Given the description of an element on the screen output the (x, y) to click on. 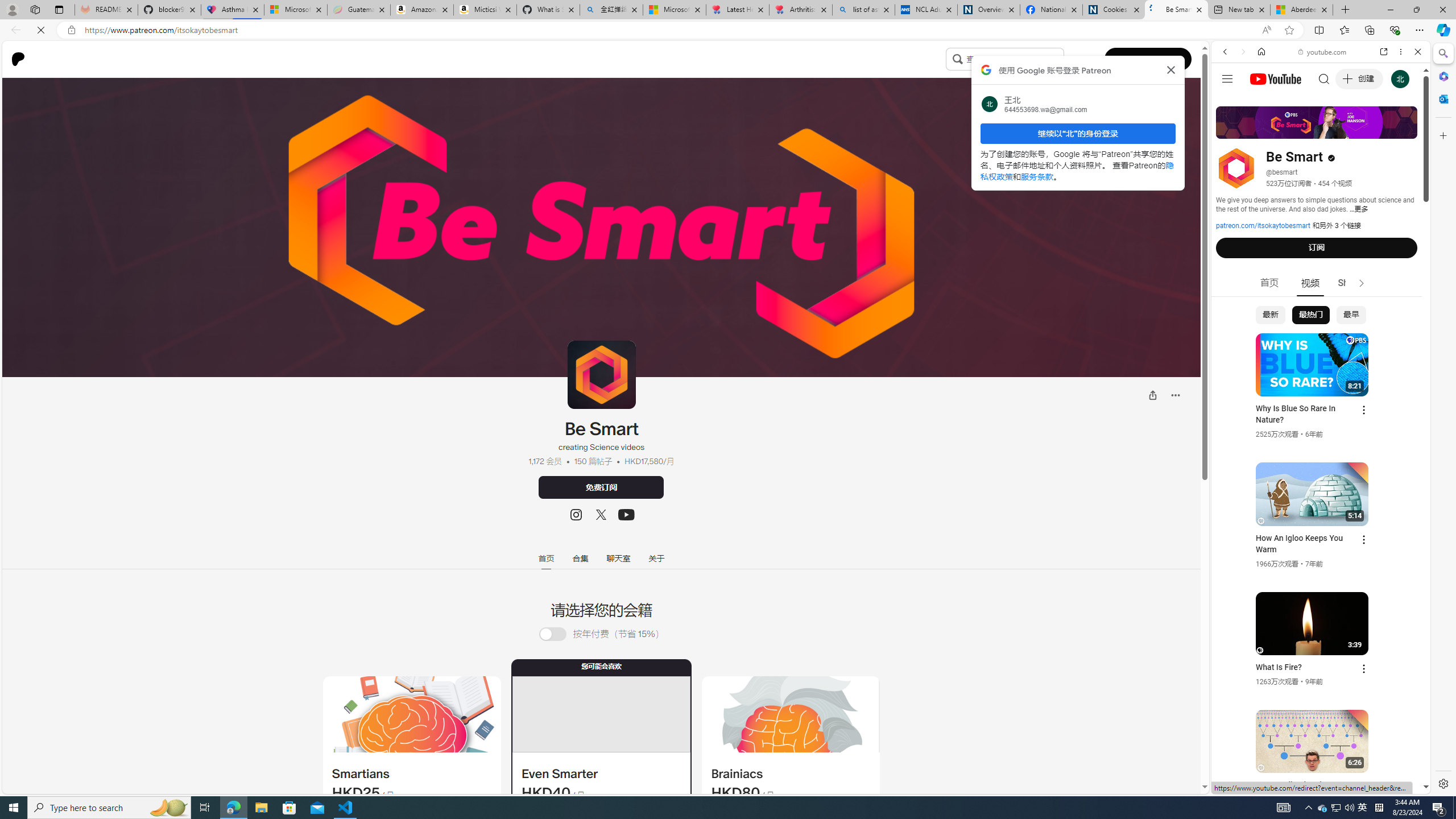
AutomationID: right (1361, 283)
Loading (552, 634)
